Given the description of an element on the screen output the (x, y) to click on. 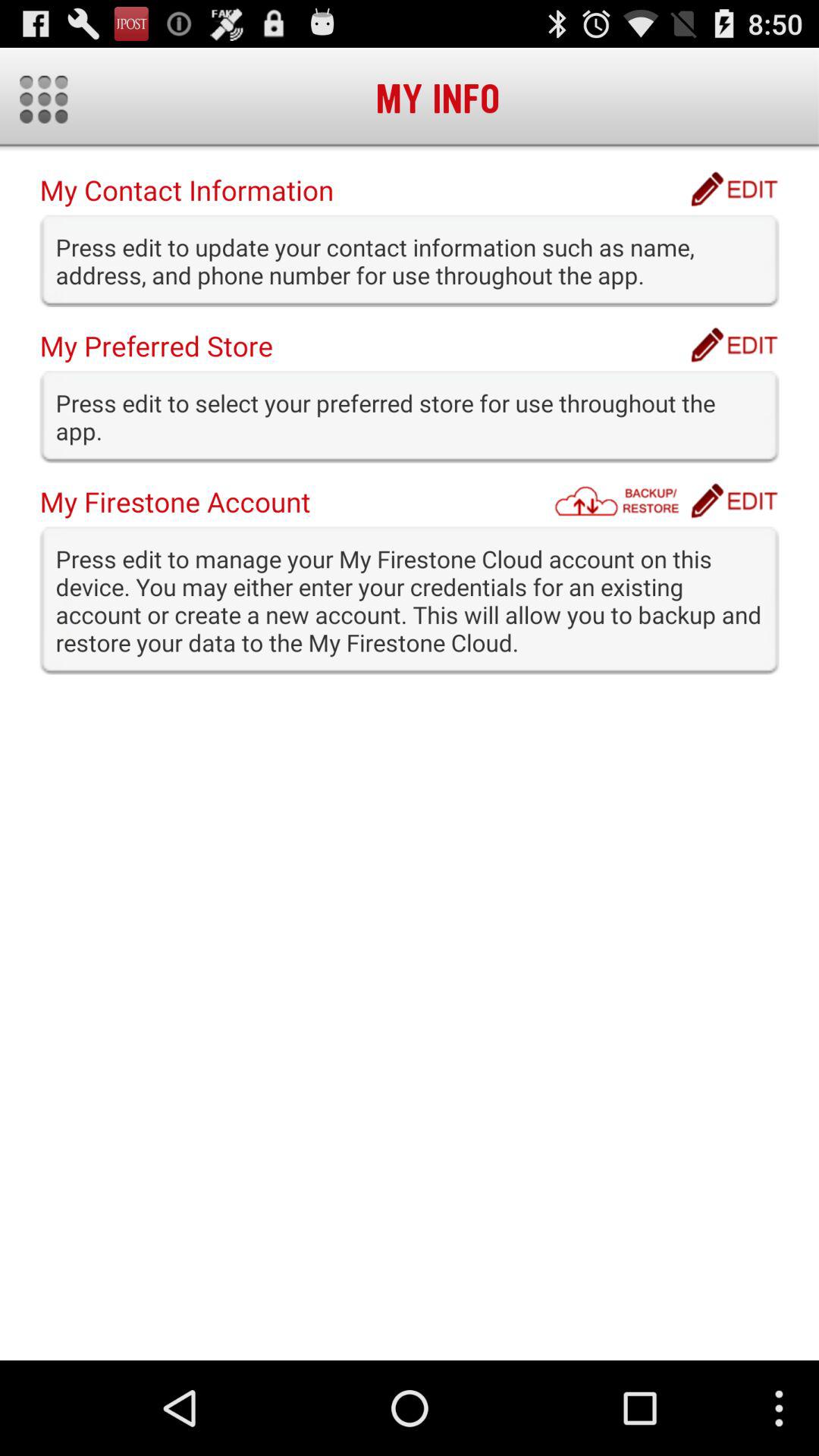
click item above the my contact information (43, 99)
